Given the description of an element on the screen output the (x, y) to click on. 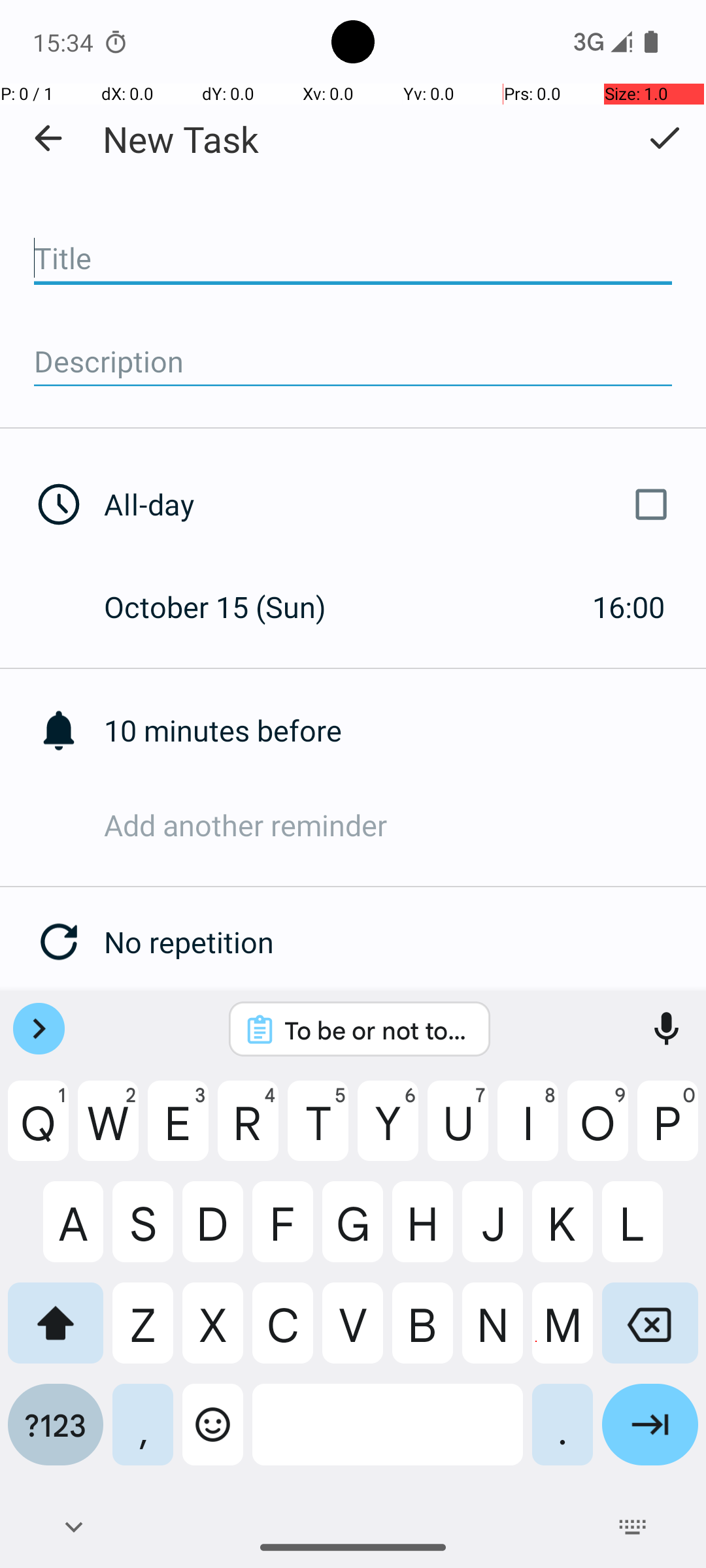
New Task Element type: android.widget.TextView (180, 138)
To be or not to be. Element type: android.widget.TextView (376, 1029)
